Given the description of an element on the screen output the (x, y) to click on. 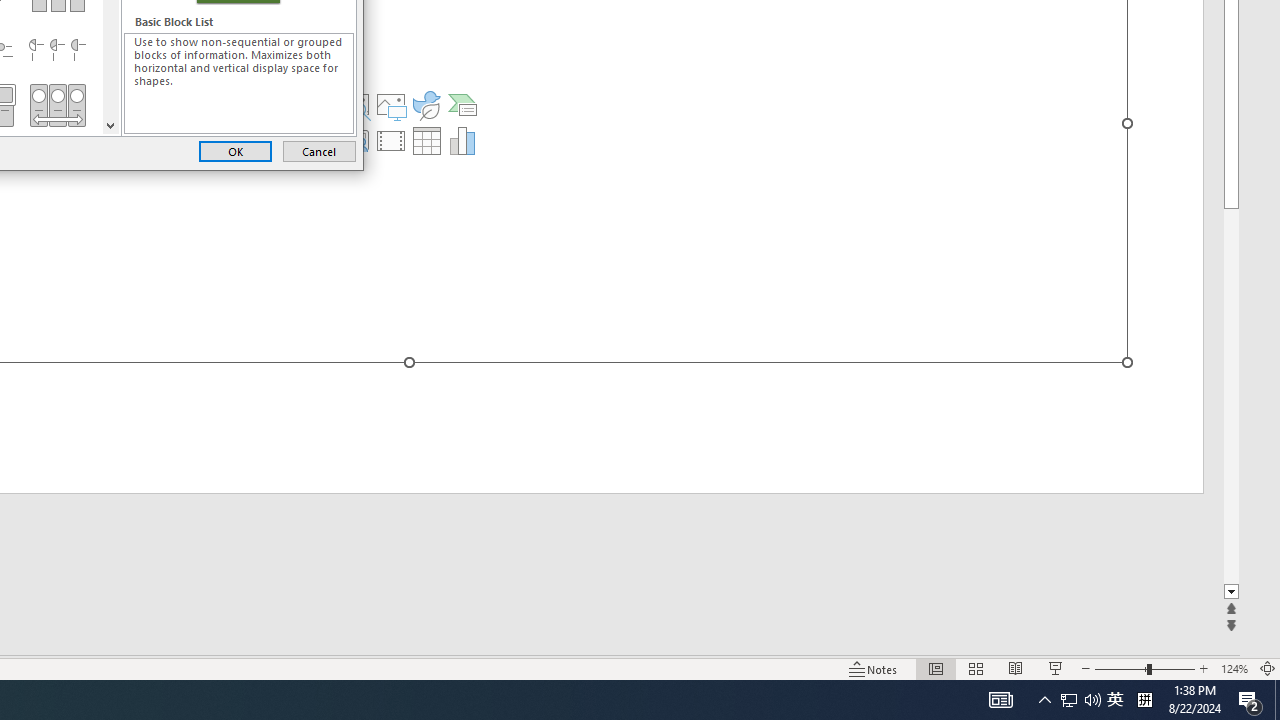
Insert Chart (462, 140)
Insert a SmartArt Graphic (462, 104)
OK (235, 150)
Continuous Picture List (57, 105)
Pie Process (57, 49)
Insert an Icon (426, 104)
Class: NetUITextbox (239, 83)
